Given the description of an element on the screen output the (x, y) to click on. 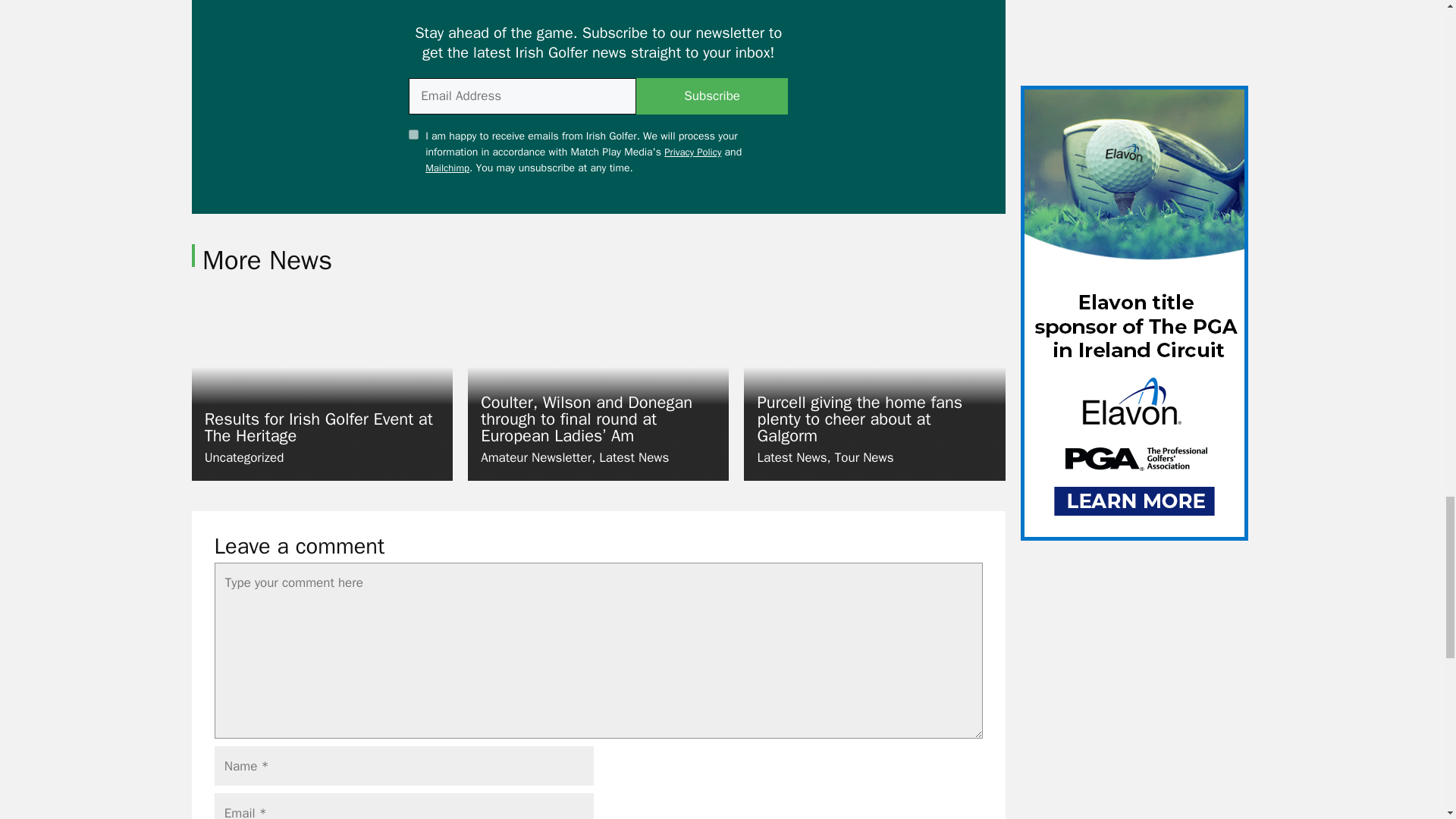
Y (414, 134)
Subscribe (711, 95)
